Given the description of an element on the screen output the (x, y) to click on. 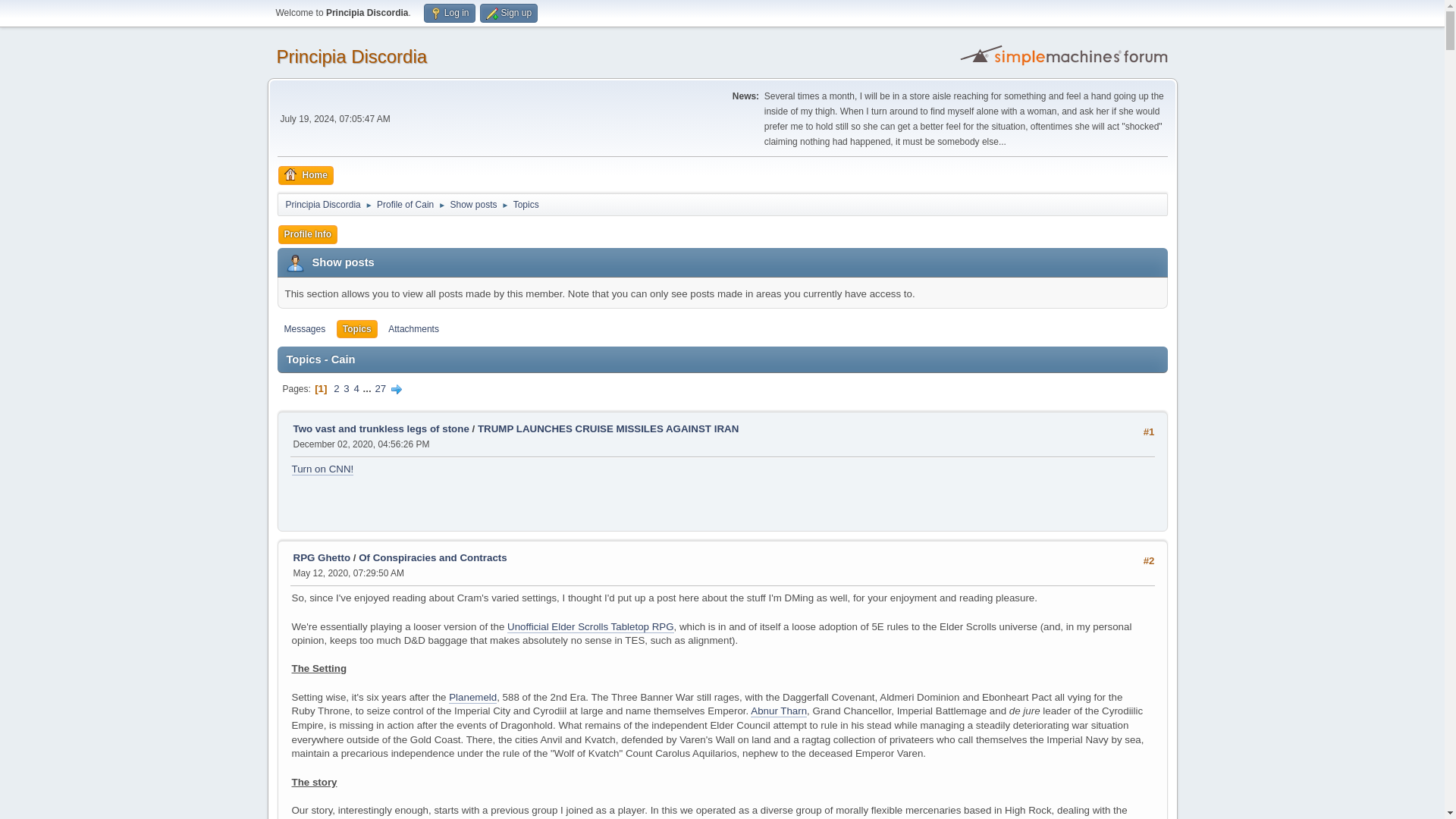
Profile Info (307, 234)
Principia Discordia (351, 55)
Unofficial Elder Scrolls Tabletop RPG (590, 626)
Two vast and trunkless legs of stone (380, 428)
Planemeld (472, 697)
Of Conspiracies and Contracts (432, 557)
Topics (356, 329)
Principia Discordia (322, 201)
Profile of Cain (405, 201)
Sign up (508, 13)
27 (380, 388)
Messages (304, 329)
Attachments (413, 329)
Show posts (473, 201)
Log in (448, 13)
